Given the description of an element on the screen output the (x, y) to click on. 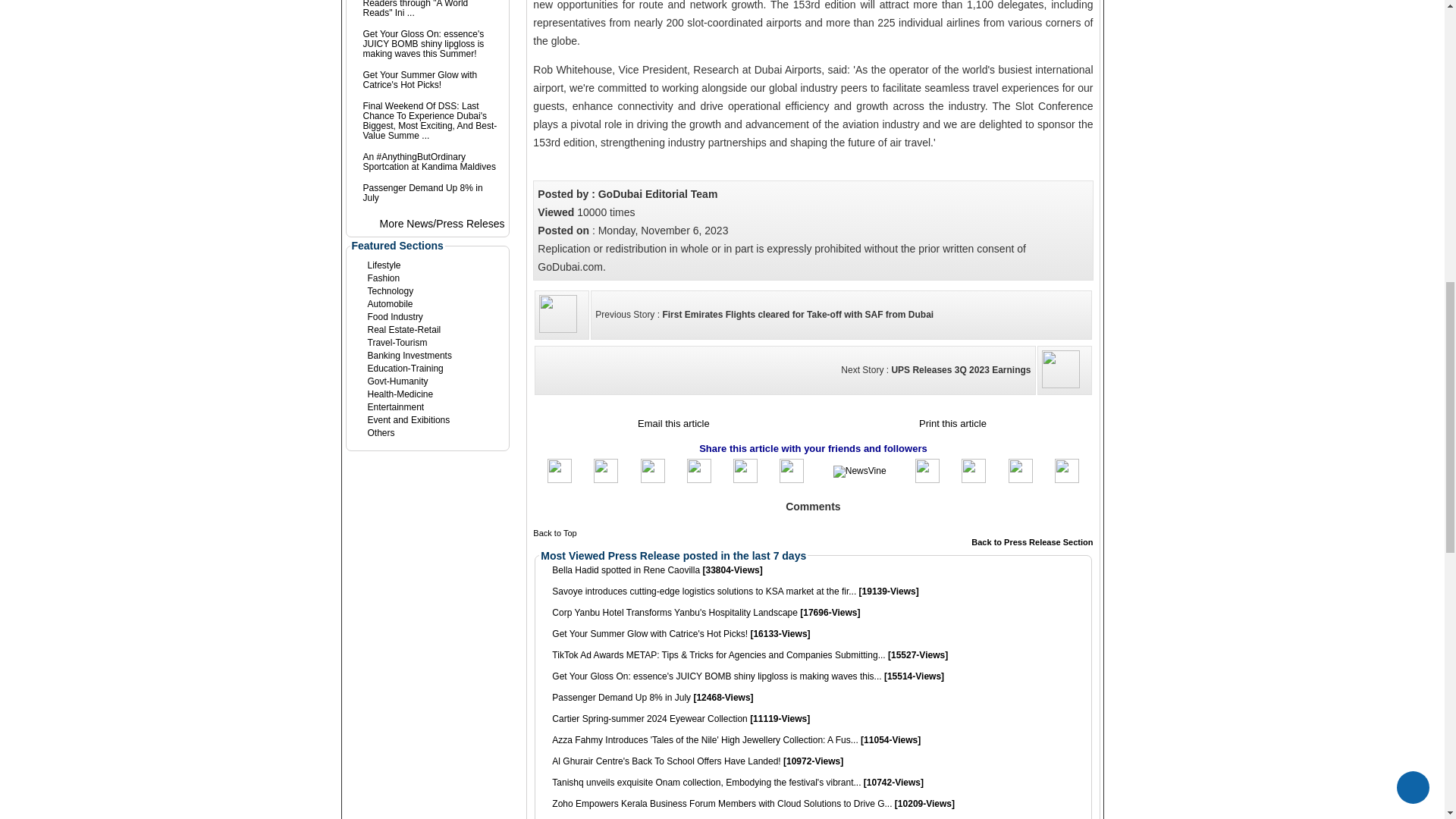
Linkedin (652, 480)
Twitter (605, 480)
Folkd (972, 480)
Stumbleupon (745, 480)
Delicious (1020, 480)
Reddit (927, 480)
MySpace (699, 480)
NewsVine (859, 471)
NewsVine (859, 470)
Facebook (559, 480)
